Given the description of an element on the screen output the (x, y) to click on. 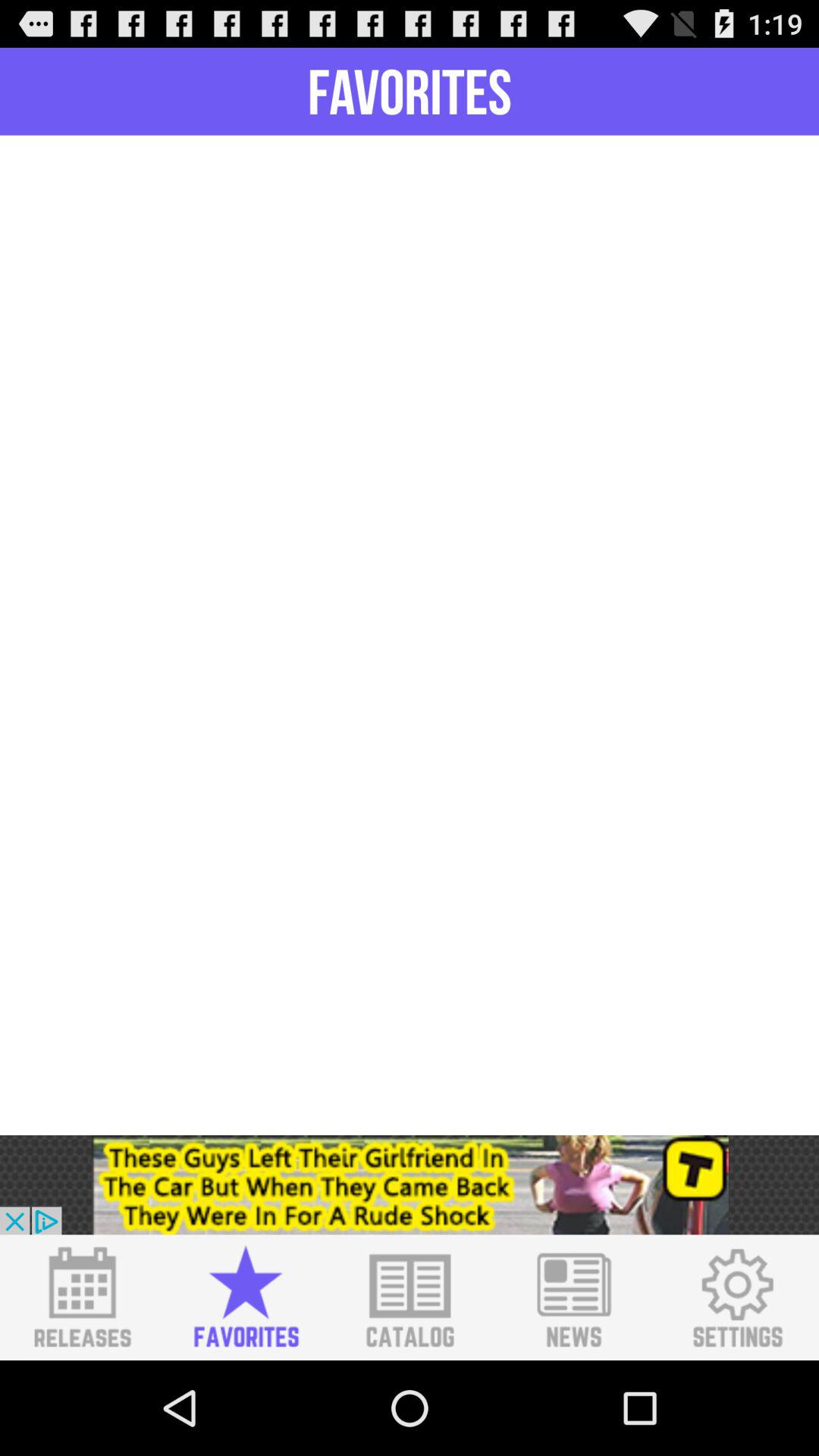
go to your favorites (245, 1297)
